Given the description of an element on the screen output the (x, y) to click on. 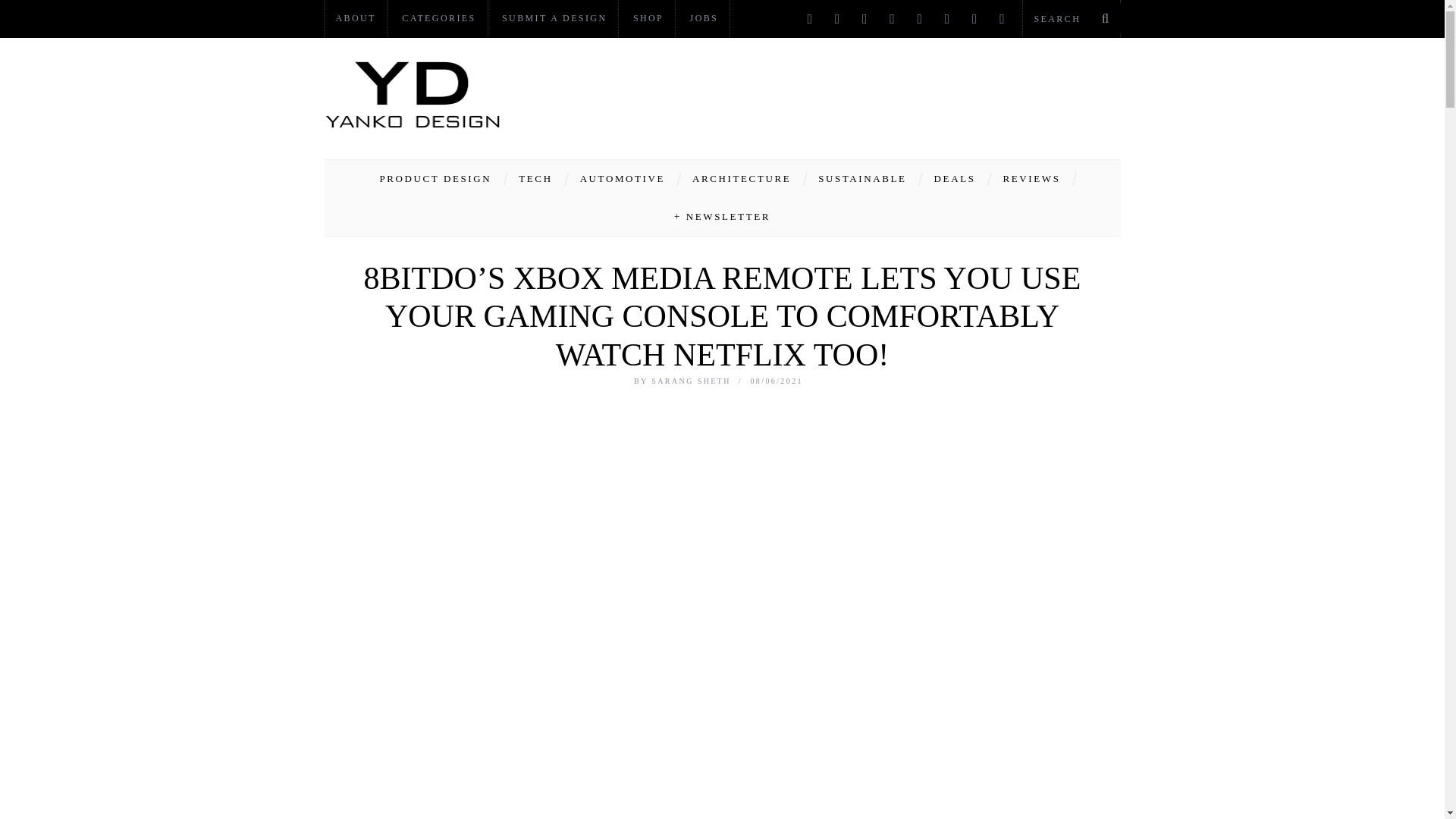
Search (1071, 18)
SUBMIT A DESIGN (553, 18)
ABOUT (355, 18)
JOBS (704, 18)
SHOP (648, 18)
CATEGORIES (438, 18)
